Given the description of an element on the screen output the (x, y) to click on. 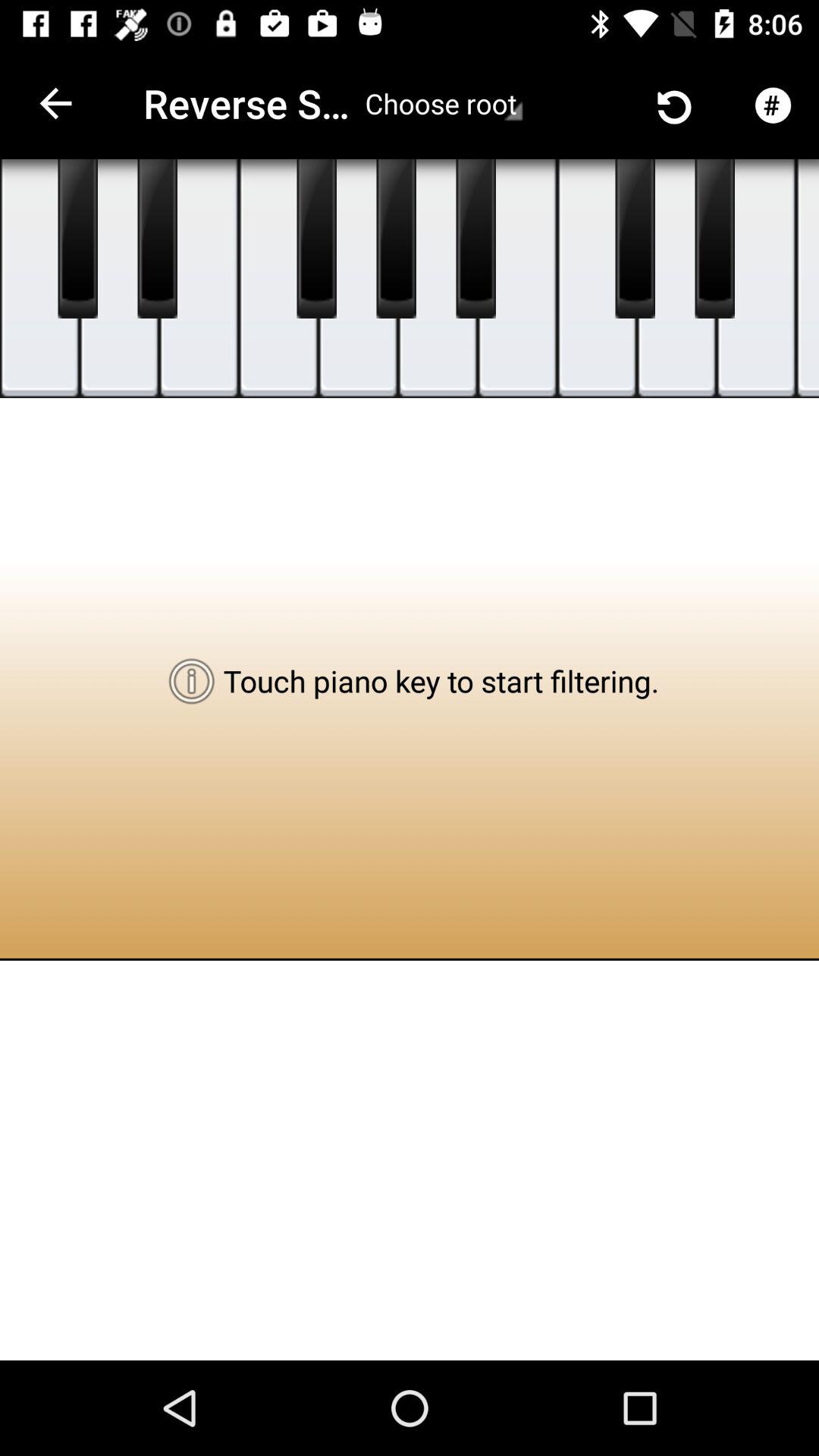
play the music (437, 278)
